Given the description of an element on the screen output the (x, y) to click on. 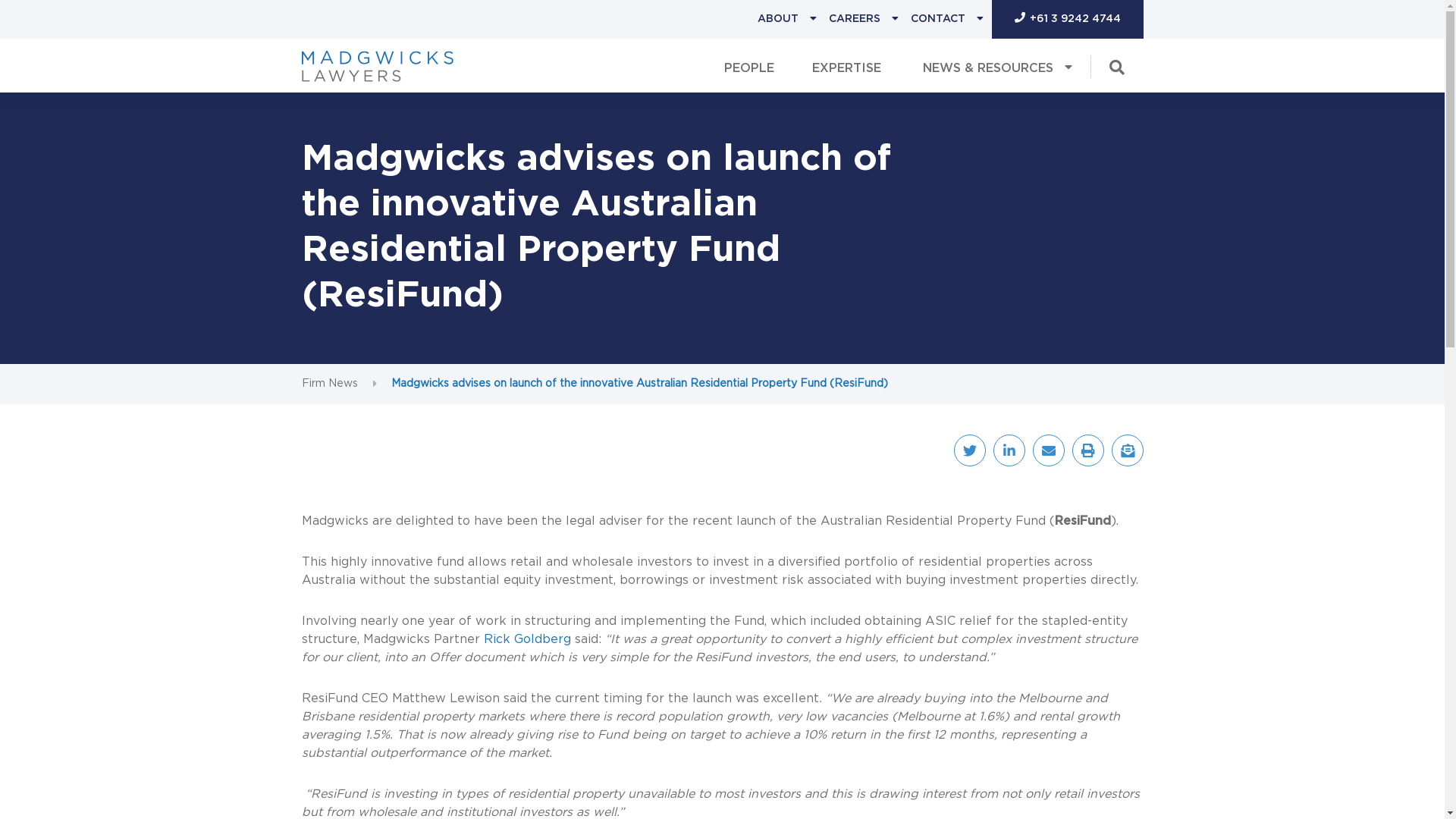
CAREERS Element type: text (853, 19)
NEWS & RESOURCES Element type: text (994, 65)
Firm News Element type: text (329, 383)
Rick Goldberg Element type: text (527, 639)
SEARCH Element type: text (43, 25)
+61 3 9242 4744 Element type: text (1067, 19)
PEOPLE Element type: text (749, 65)
ABOUT Element type: text (776, 19)
CONTACT Element type: text (936, 19)
EXPERTISE Element type: text (846, 65)
